Given the description of an element on the screen output the (x, y) to click on. 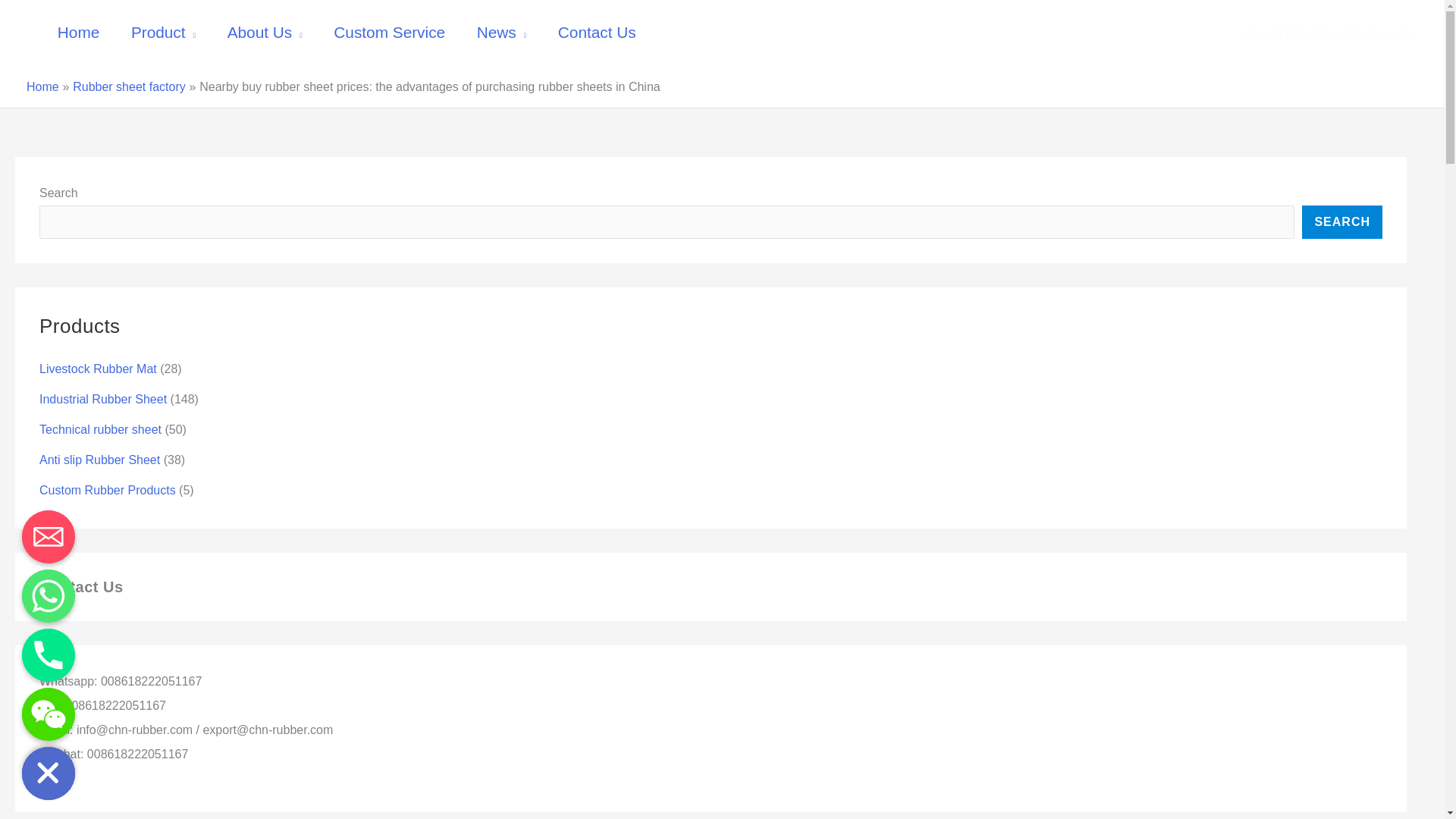
Home (78, 32)
Product (163, 32)
About Us (264, 32)
